Given the description of an element on the screen output the (x, y) to click on. 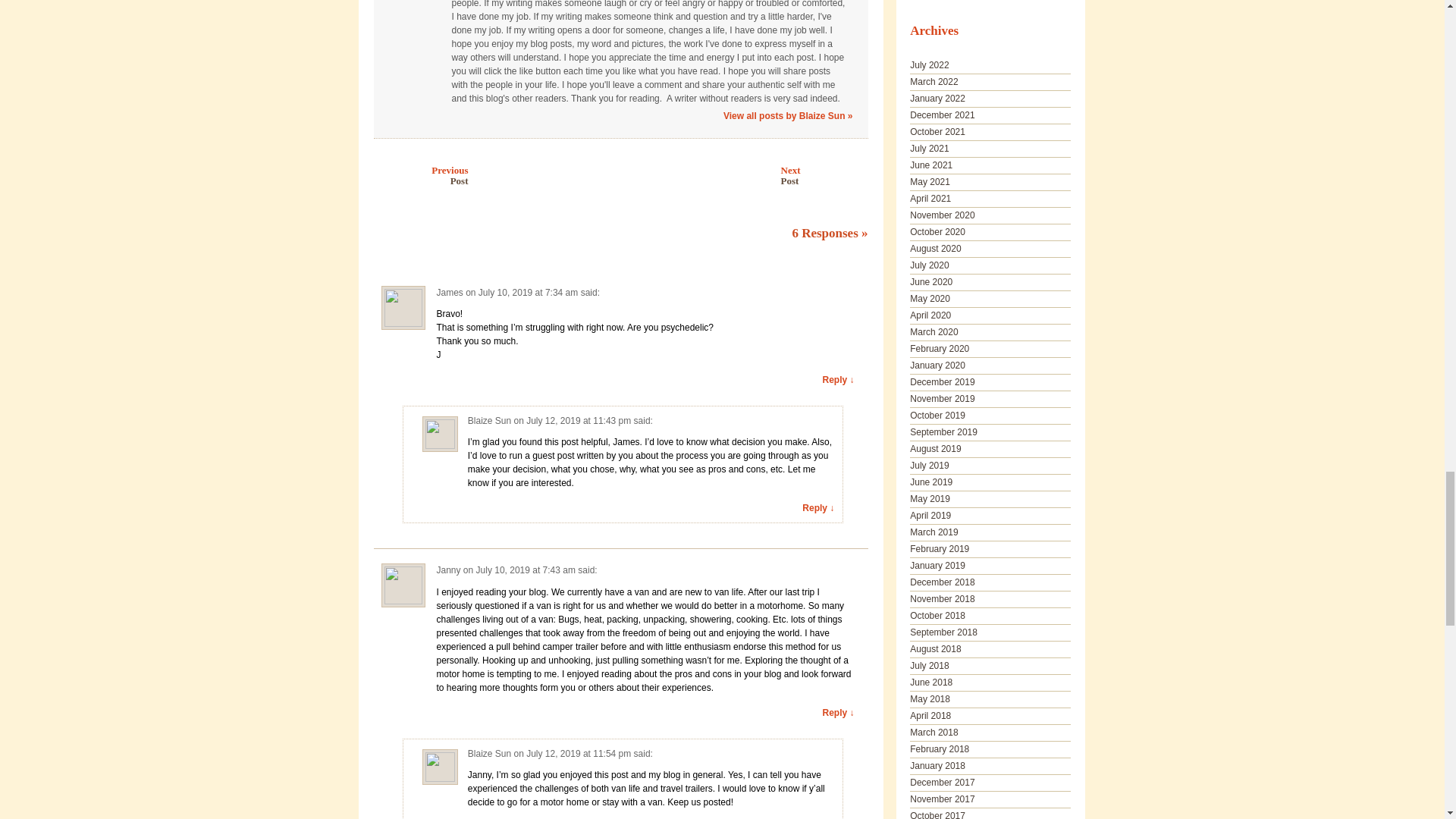
Blaize Sun (489, 420)
July 10, 2019 at 7:34 am (425, 176)
July 12, 2019 at 11:43 pm (814, 176)
July 10, 2019 at 7:43 am (528, 292)
